Given the description of an element on the screen output the (x, y) to click on. 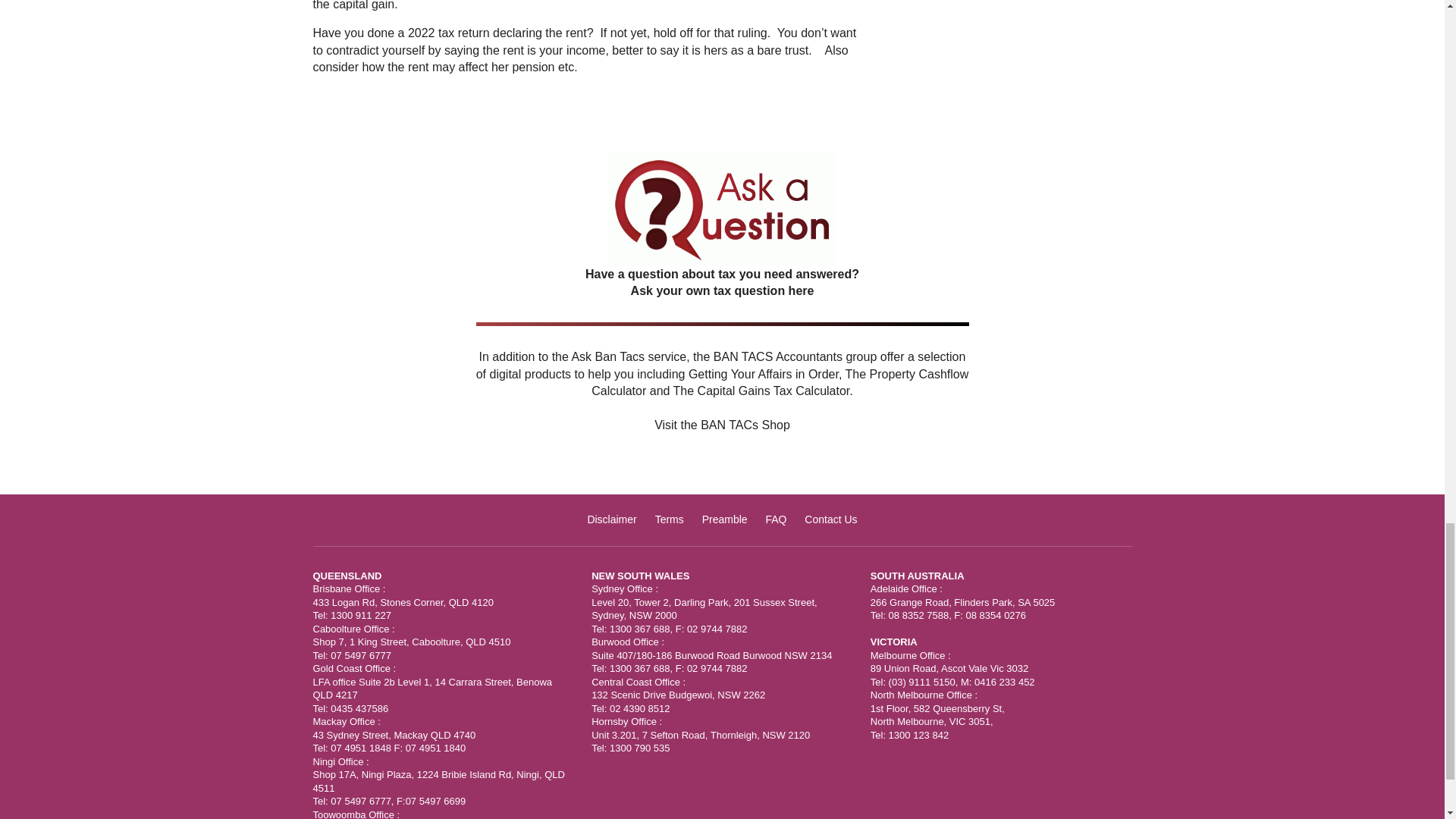
Have a question about tax you need answered? (722, 306)
